Given the description of an element on the screen output the (x, y) to click on. 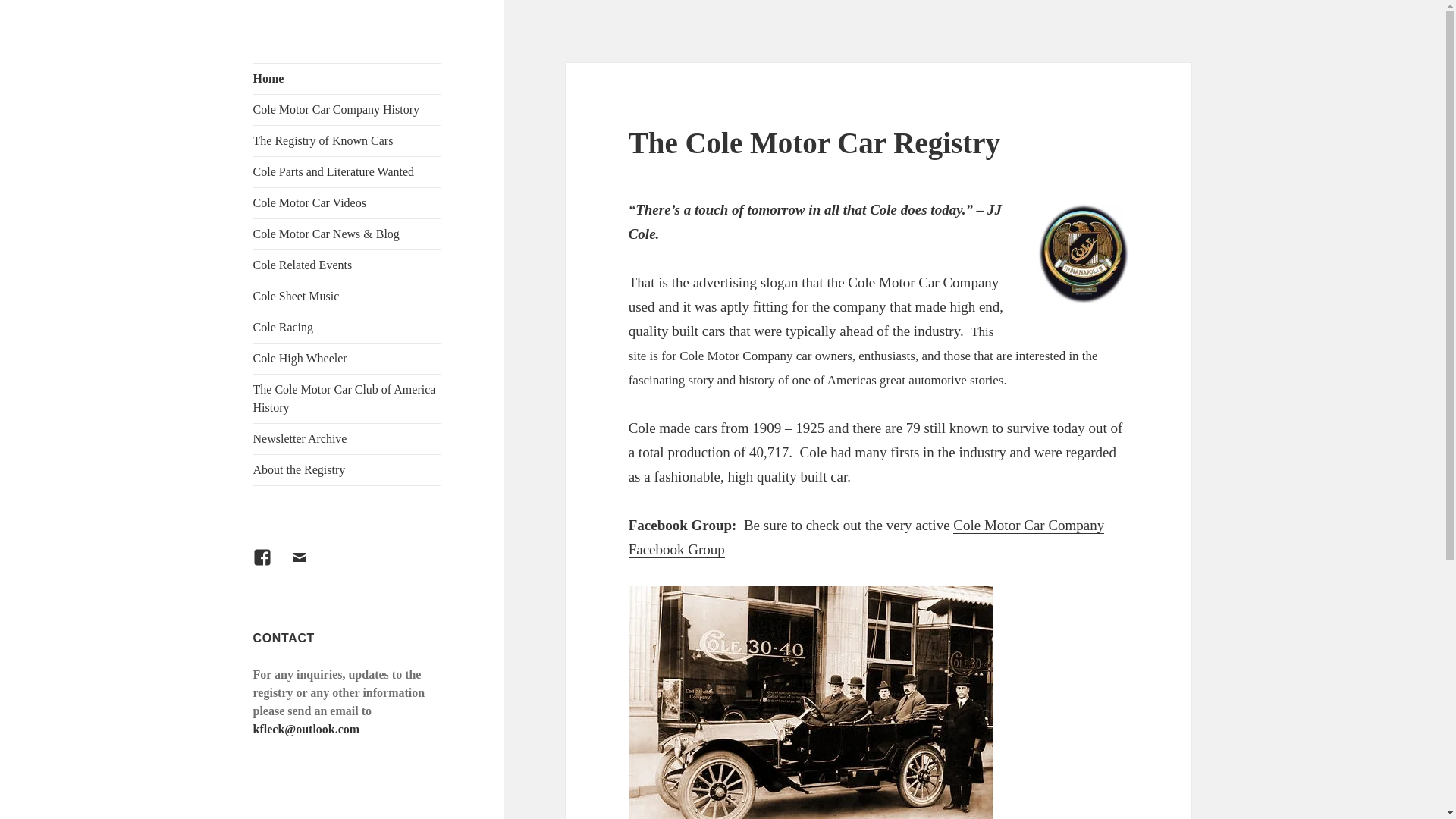
The Cole Motor Car Club of America History (347, 398)
Email (307, 565)
Cole Motor Car Company Facebook Group (866, 536)
Facebook (271, 565)
Cole Motor Car Videos (347, 203)
Cole Sheet Music (347, 296)
Home (347, 78)
Cole High Wheeler (347, 358)
Cole Related Events (347, 265)
Newsletter Archive (347, 439)
The Registry of Known Cars (347, 141)
Cole Racing (347, 327)
Cole Motor Car Company History (347, 110)
About the Registry (347, 470)
Cole Motor Car Registry (326, 86)
